Given the description of an element on the screen output the (x, y) to click on. 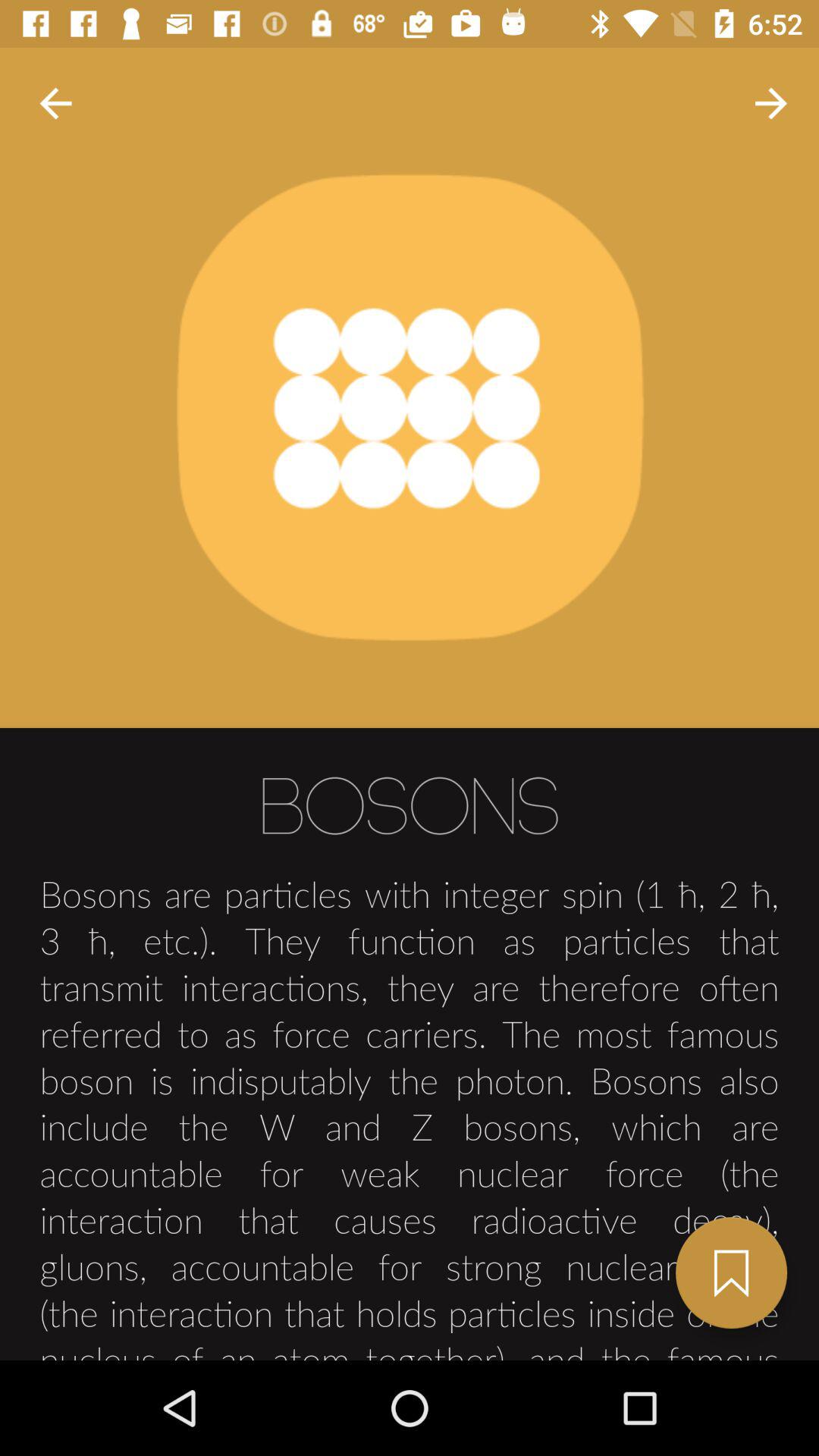
go to previous (55, 103)
